Given the description of an element on the screen output the (x, y) to click on. 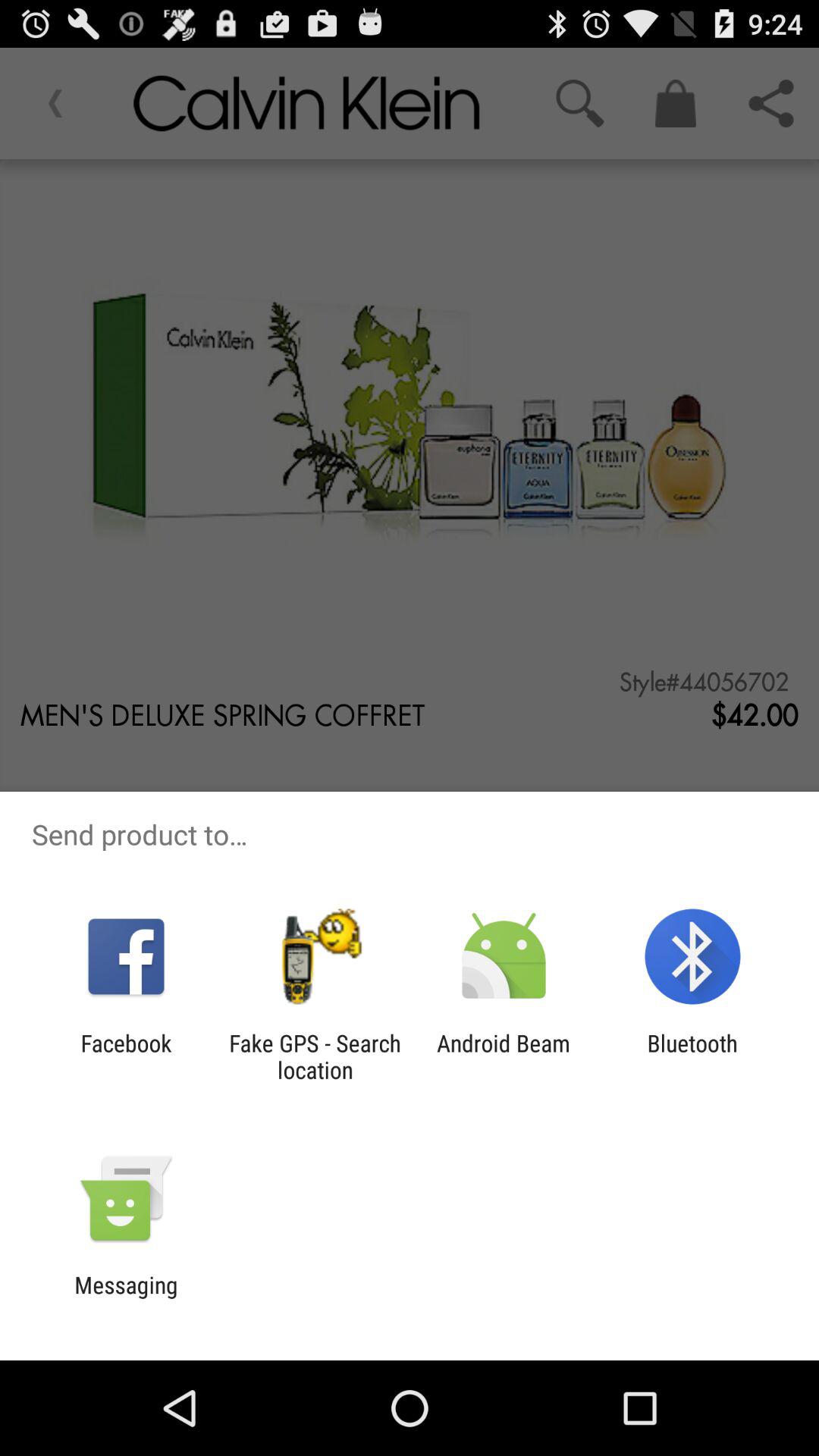
jump until messaging (126, 1298)
